Given the description of an element on the screen output the (x, y) to click on. 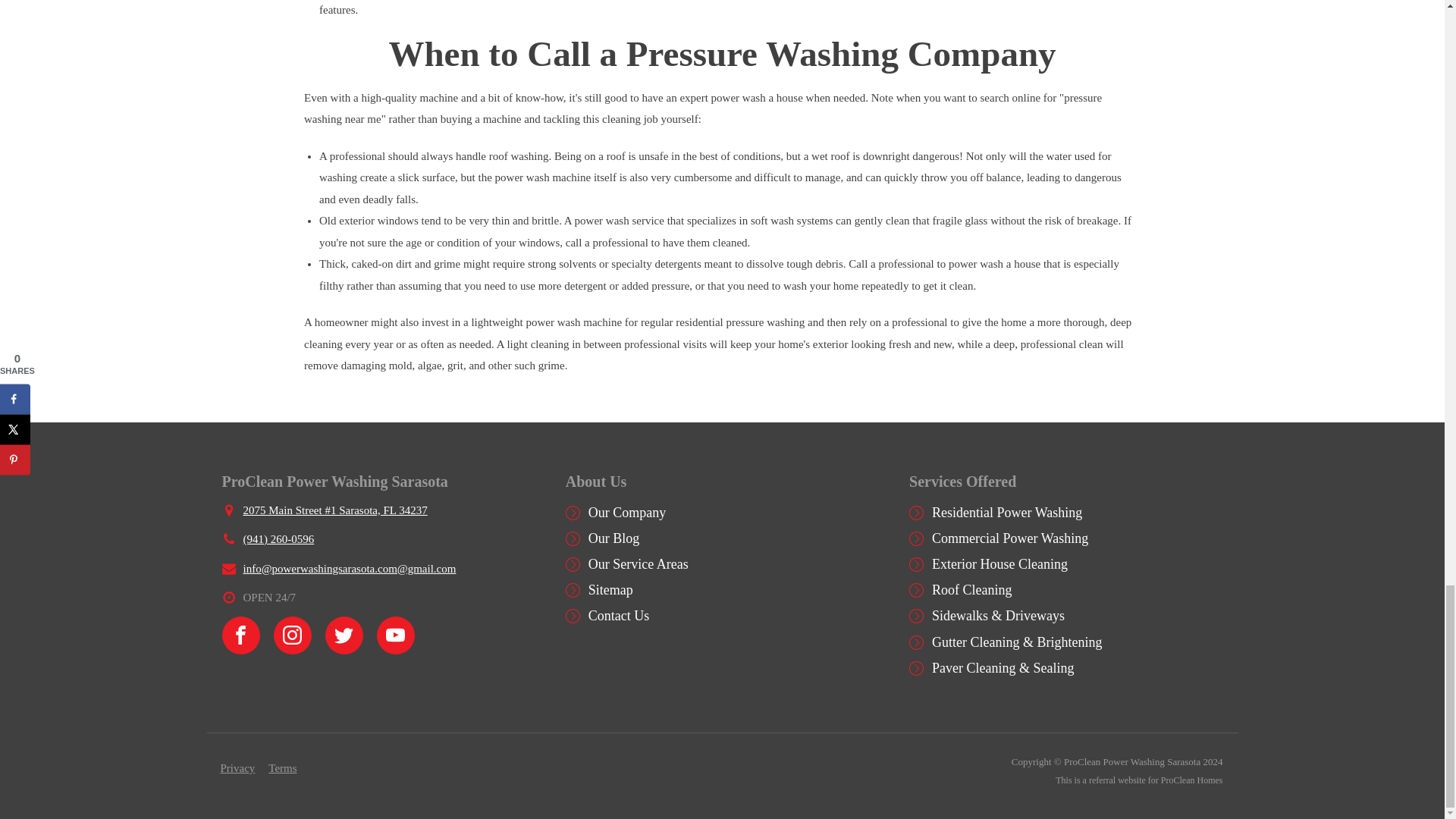
Sitemap (610, 589)
Our Service Areas (638, 564)
Roof Cleaning (971, 589)
Our Company (627, 512)
Residential Power Washing (1006, 512)
Contact Us (618, 615)
Exterior House Cleaning (999, 564)
Our Blog (614, 538)
Commercial Power Washing (1009, 538)
